Given the description of an element on the screen output the (x, y) to click on. 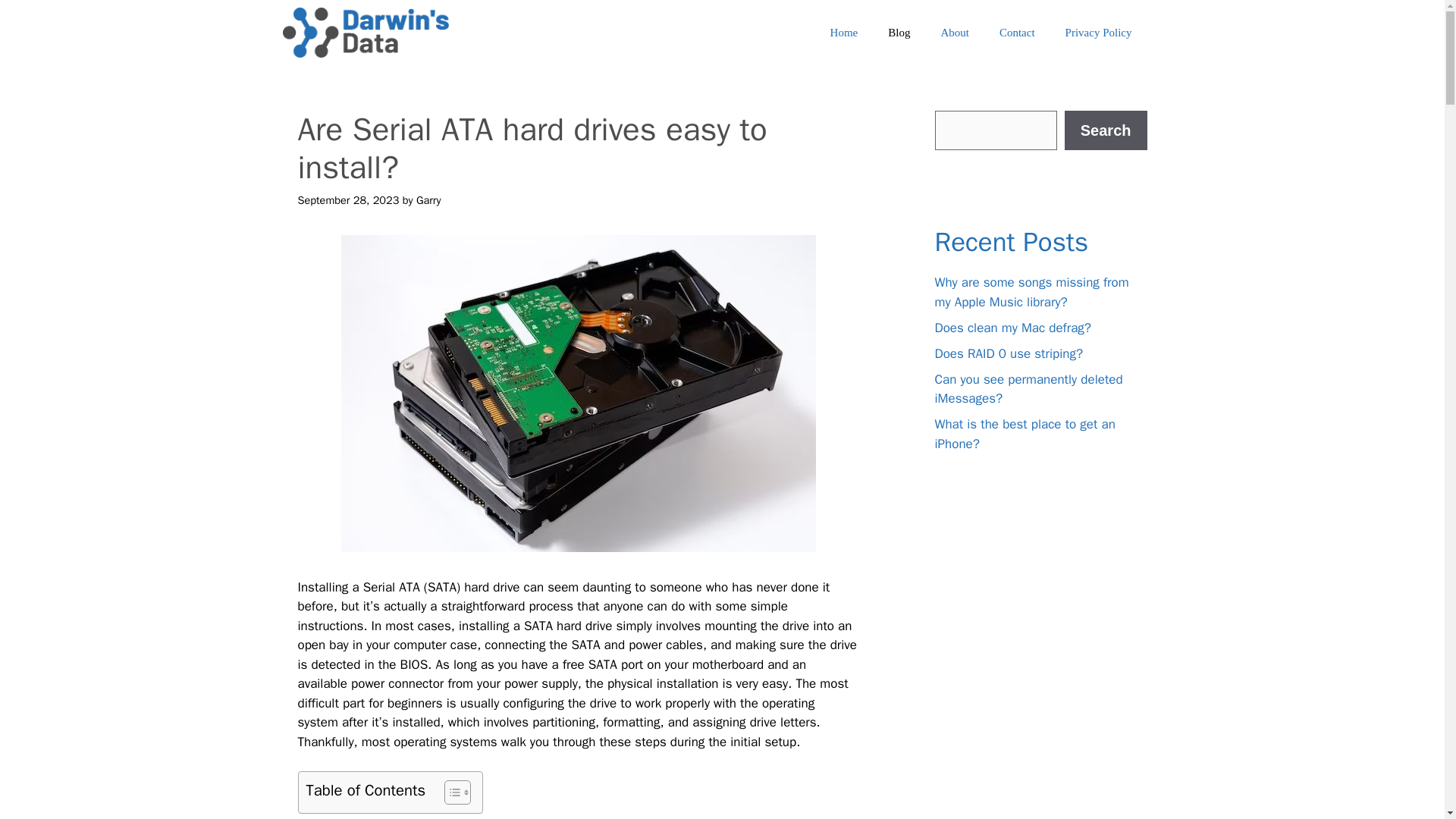
Garry (428, 200)
Contact (1016, 32)
About (954, 32)
Blog (898, 32)
Darwin's Data (365, 32)
Home (844, 32)
Privacy Policy (1098, 32)
View all posts by Garry (428, 200)
